Given the description of an element on the screen output the (x, y) to click on. 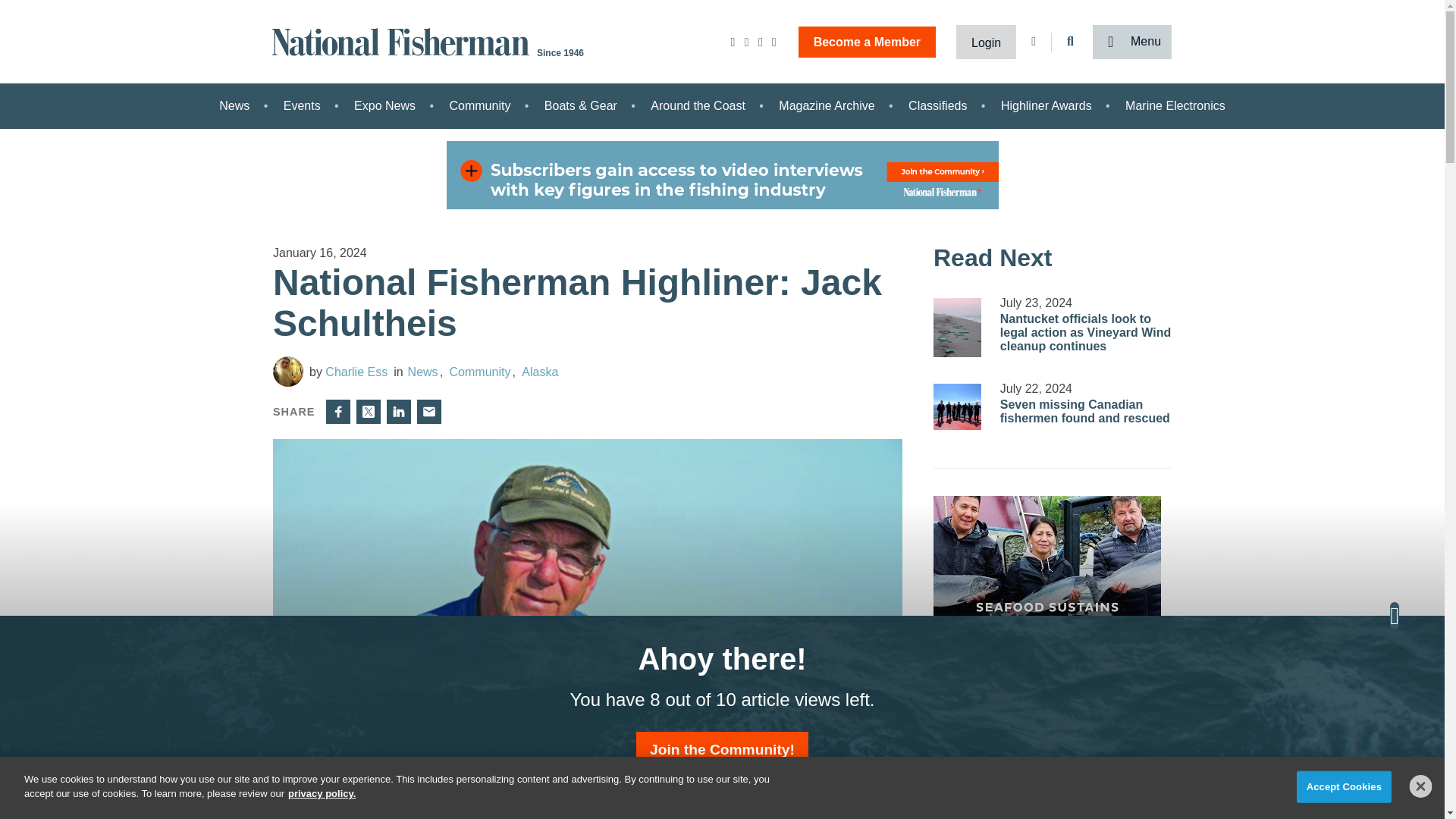
Charlie Ess (287, 371)
Charlie Ess (347, 372)
National Fisherman (403, 40)
Become a Member (866, 41)
Login (986, 41)
